Given the description of an element on the screen output the (x, y) to click on. 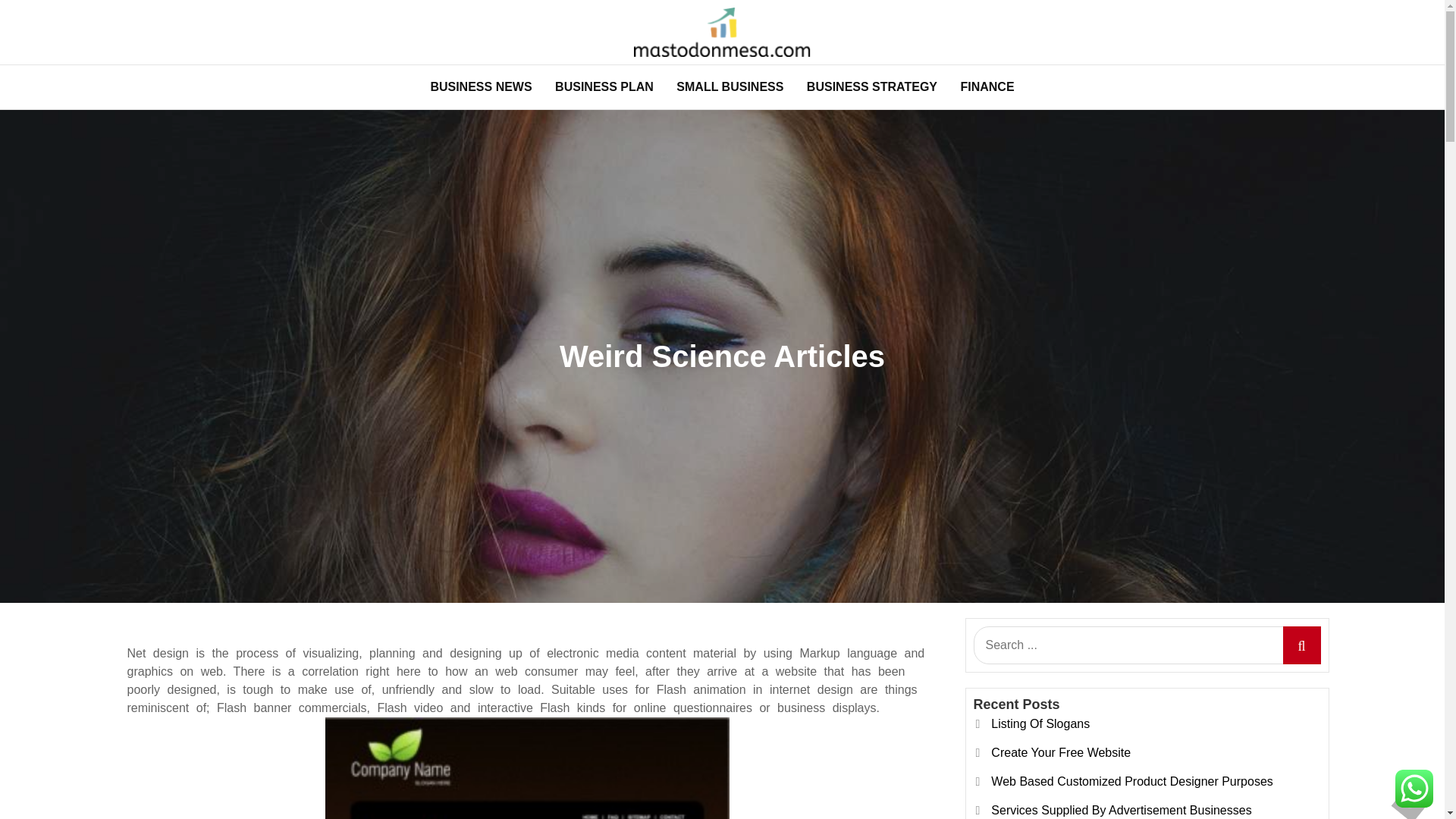
Services Supplied By Advertisement Businesses (1120, 809)
BUSINESS STRATEGY (871, 86)
Web Based Customized Product Designer Purposes (1131, 780)
Search for: (1147, 645)
BUSINESS NEWS (480, 86)
Listing Of Slogans (1040, 723)
SMALL BUSINESS (729, 86)
MM (220, 77)
FINANCE (986, 86)
Create Your Free Website (1061, 752)
Search (1301, 645)
BUSINESS PLAN (603, 86)
